Given the description of an element on the screen output the (x, y) to click on. 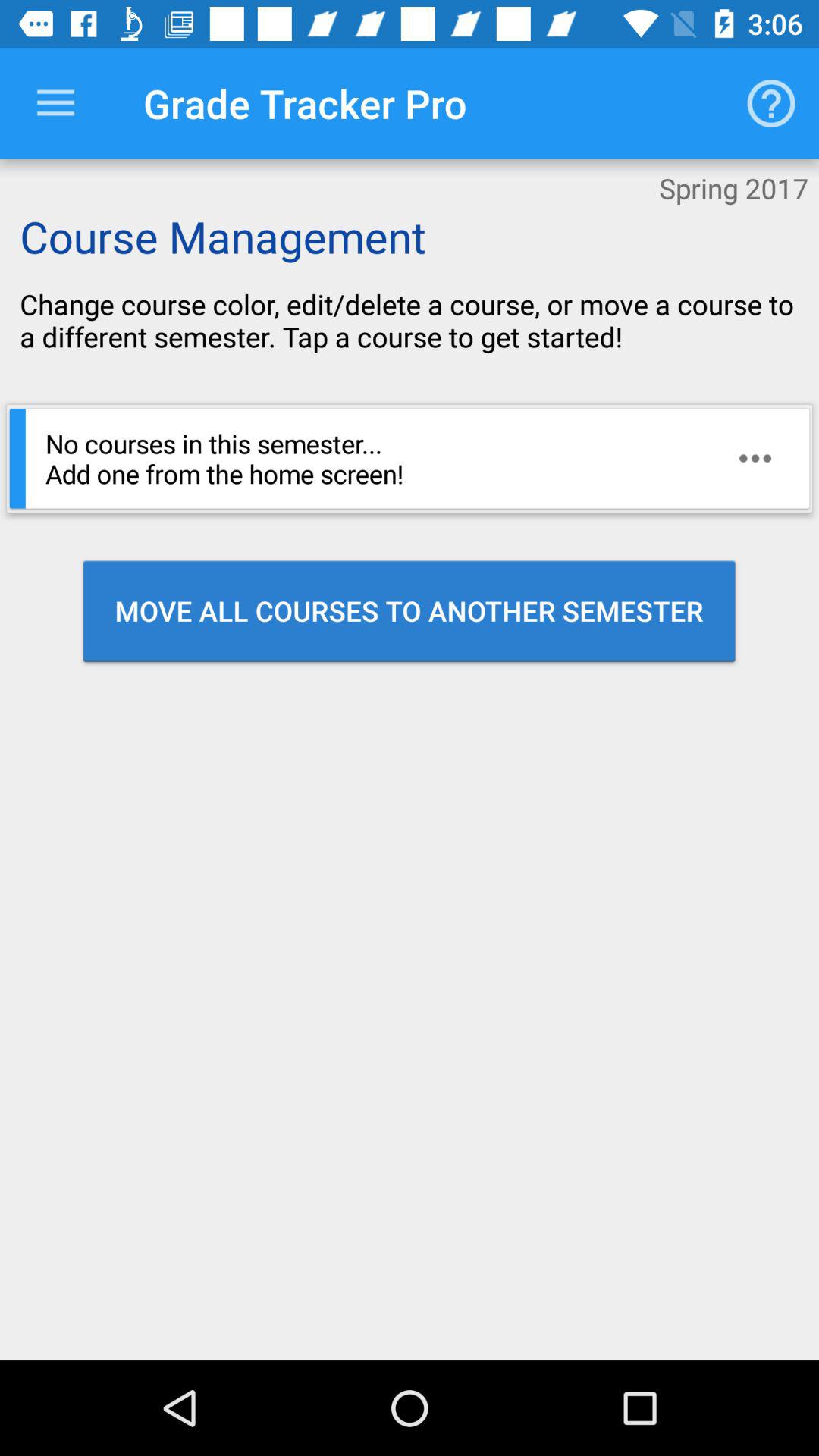
access the menue (55, 103)
